Given the description of an element on the screen output the (x, y) to click on. 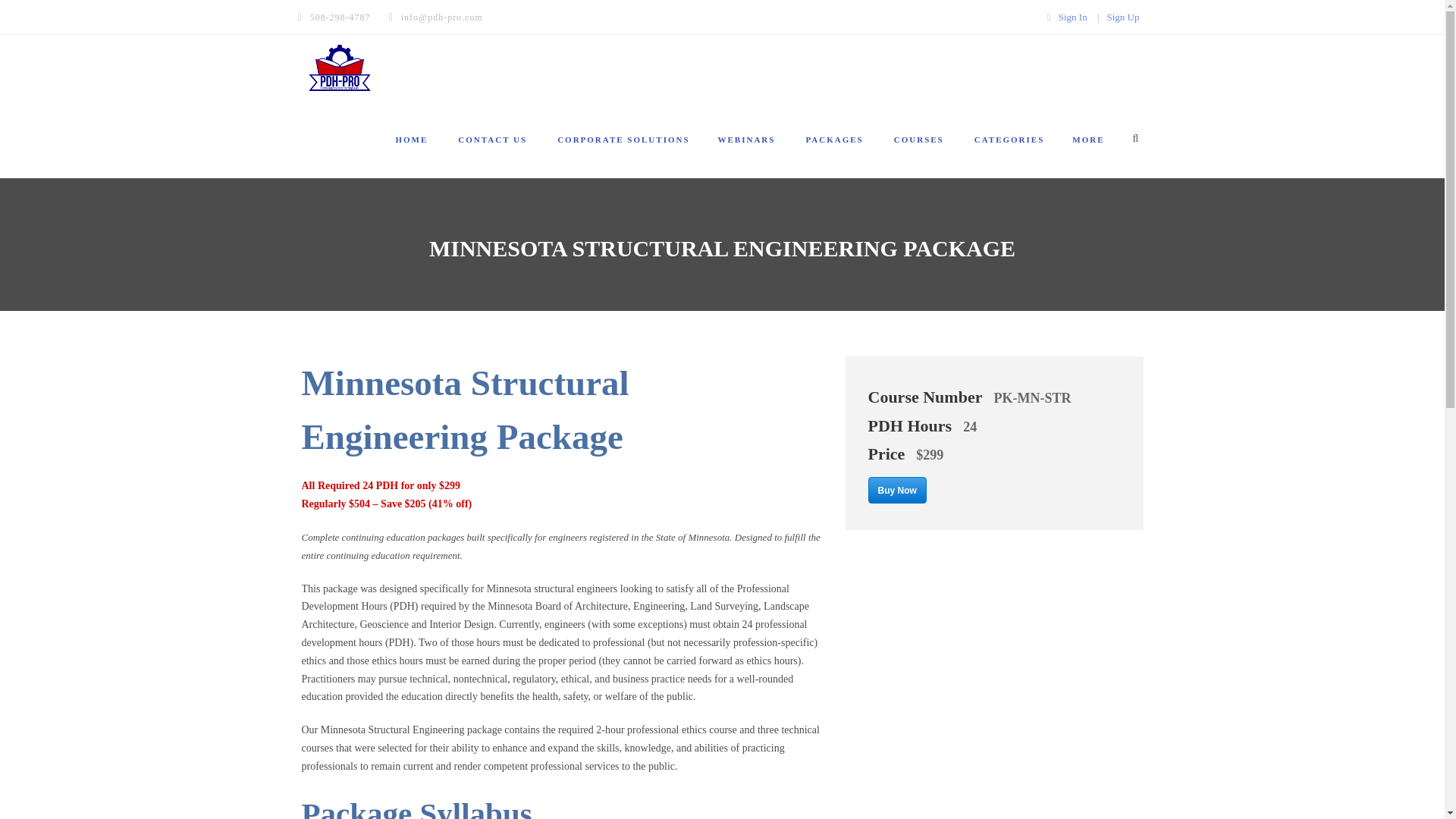
State Packages (833, 155)
Sign In (1072, 16)
Sign Up (1123, 16)
